Given the description of an element on the screen output the (x, y) to click on. 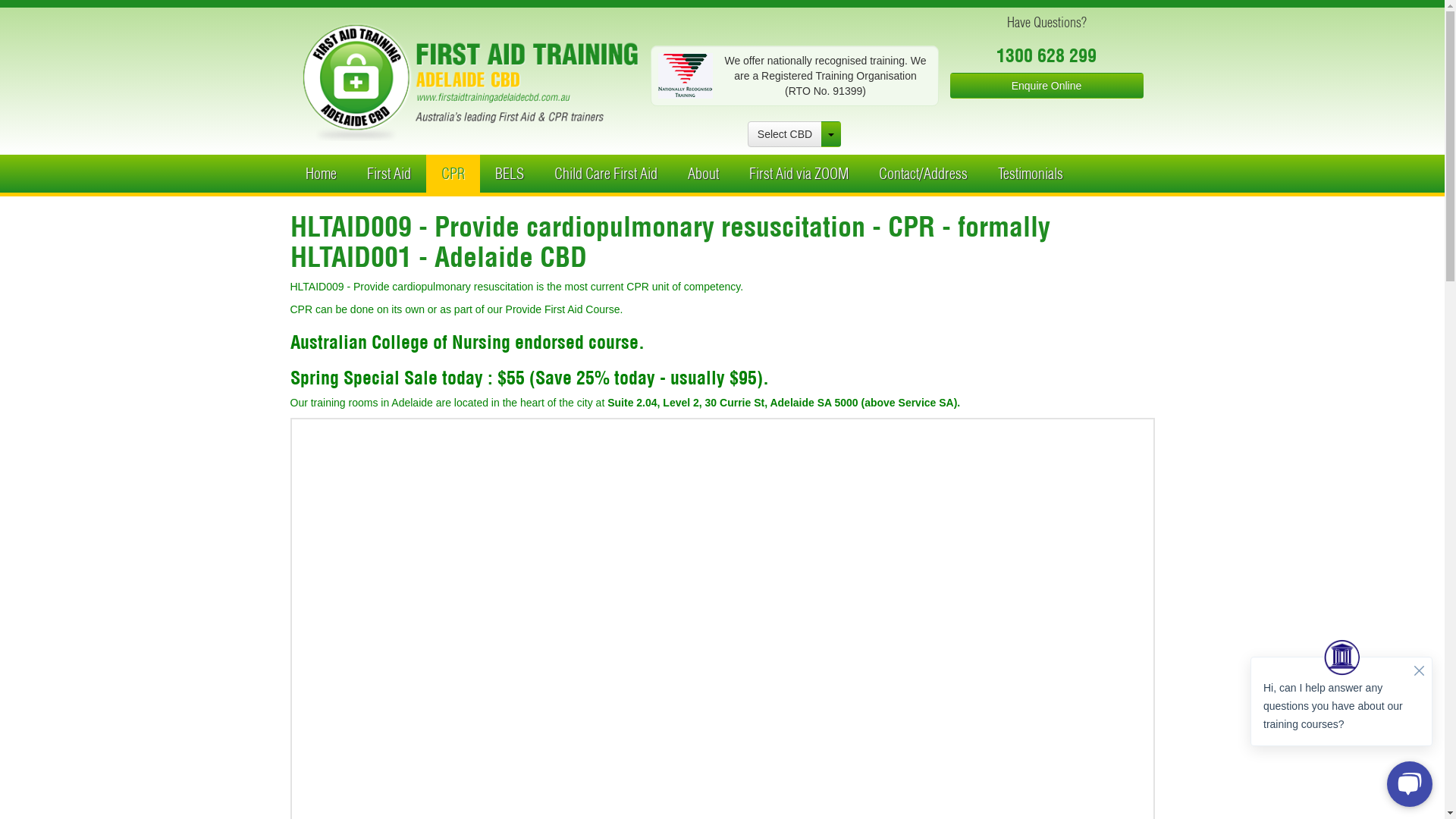
About Element type: text (702, 173)
  Element type: text (830, 134)
First Aid Element type: text (388, 173)
First AID CBD College Australia Element type: hover (470, 81)
CPR Element type: text (453, 173)
Home Element type: text (320, 173)
BELS Element type: text (508, 173)
Select CBD Element type: text (784, 134)
Nationally Recognized Training Element type: hover (685, 75)
First Aid via ZOOM Element type: text (798, 173)
Testimonials Element type: text (1030, 173)
Child Care First Aid Element type: text (604, 173)
Contact/Address Element type: text (922, 173)
Enquire Online Element type: text (1045, 85)
1300 628 299 Element type: text (1046, 54)
